Given the description of an element on the screen output the (x, y) to click on. 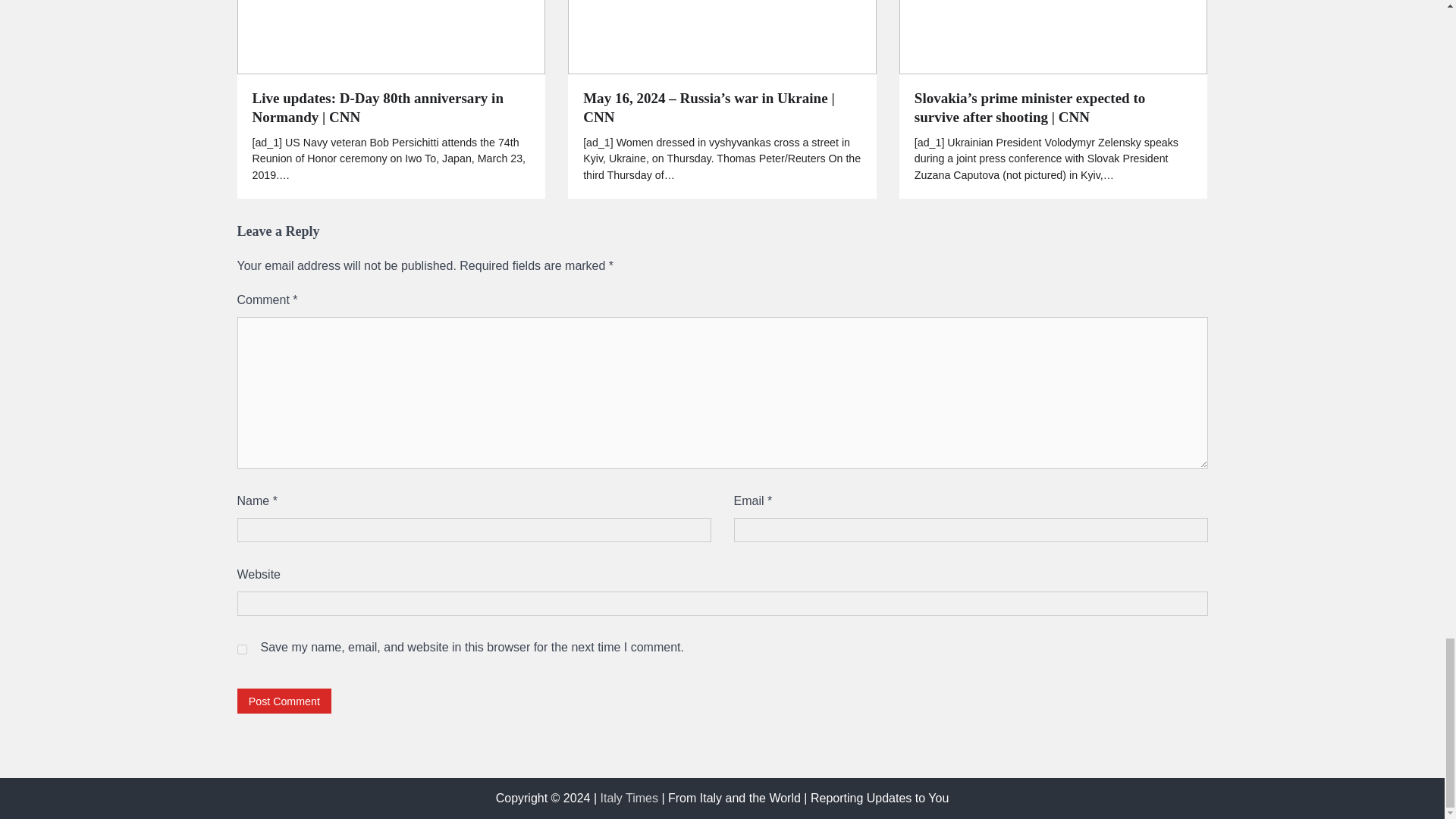
Post Comment (283, 700)
yes (240, 649)
Post Comment (283, 700)
Italy Times (628, 797)
